Given the description of an element on the screen output the (x, y) to click on. 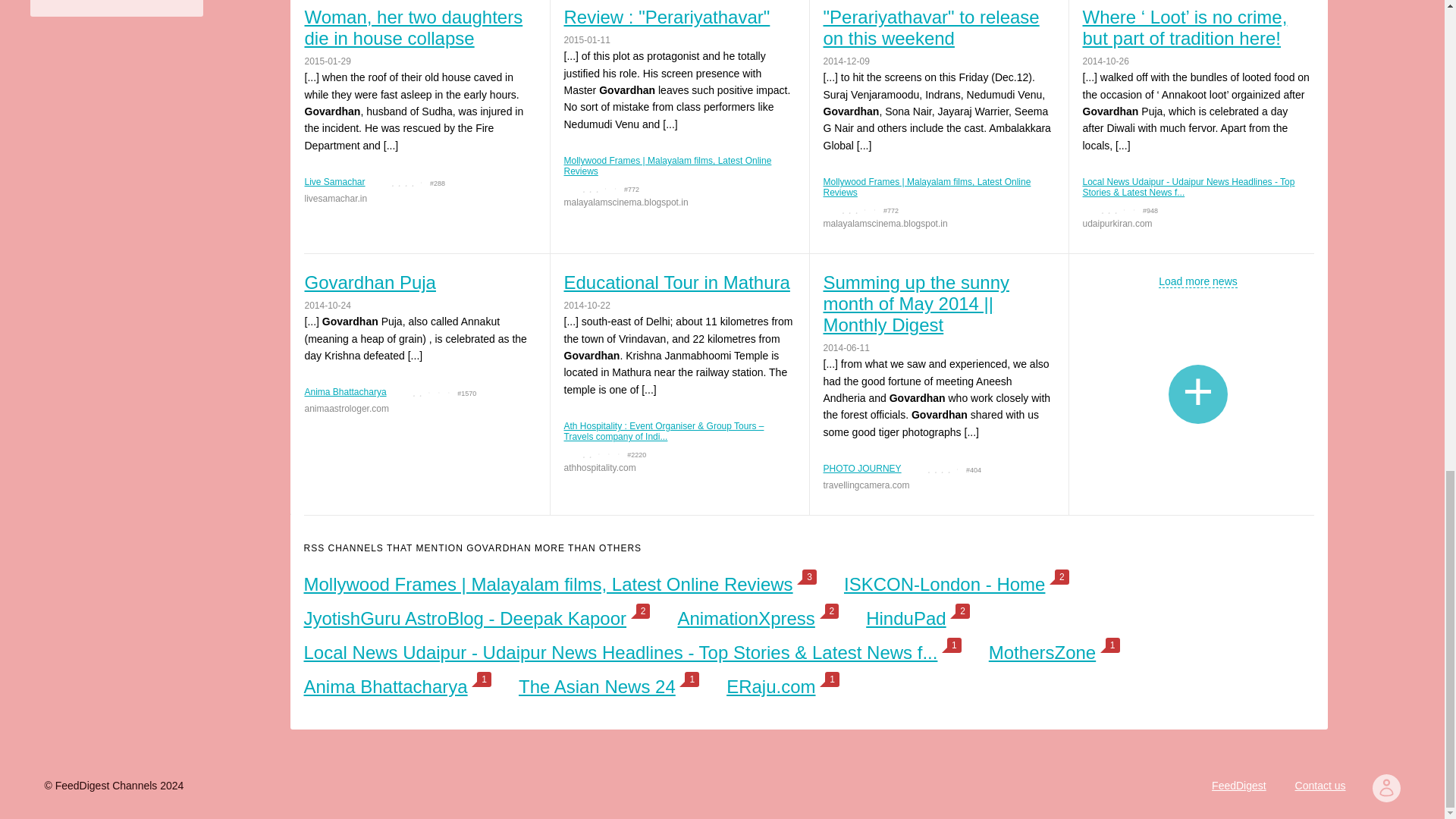
Woman, her two daughters die in house collapse (419, 27)
